Given the description of an element on the screen output the (x, y) to click on. 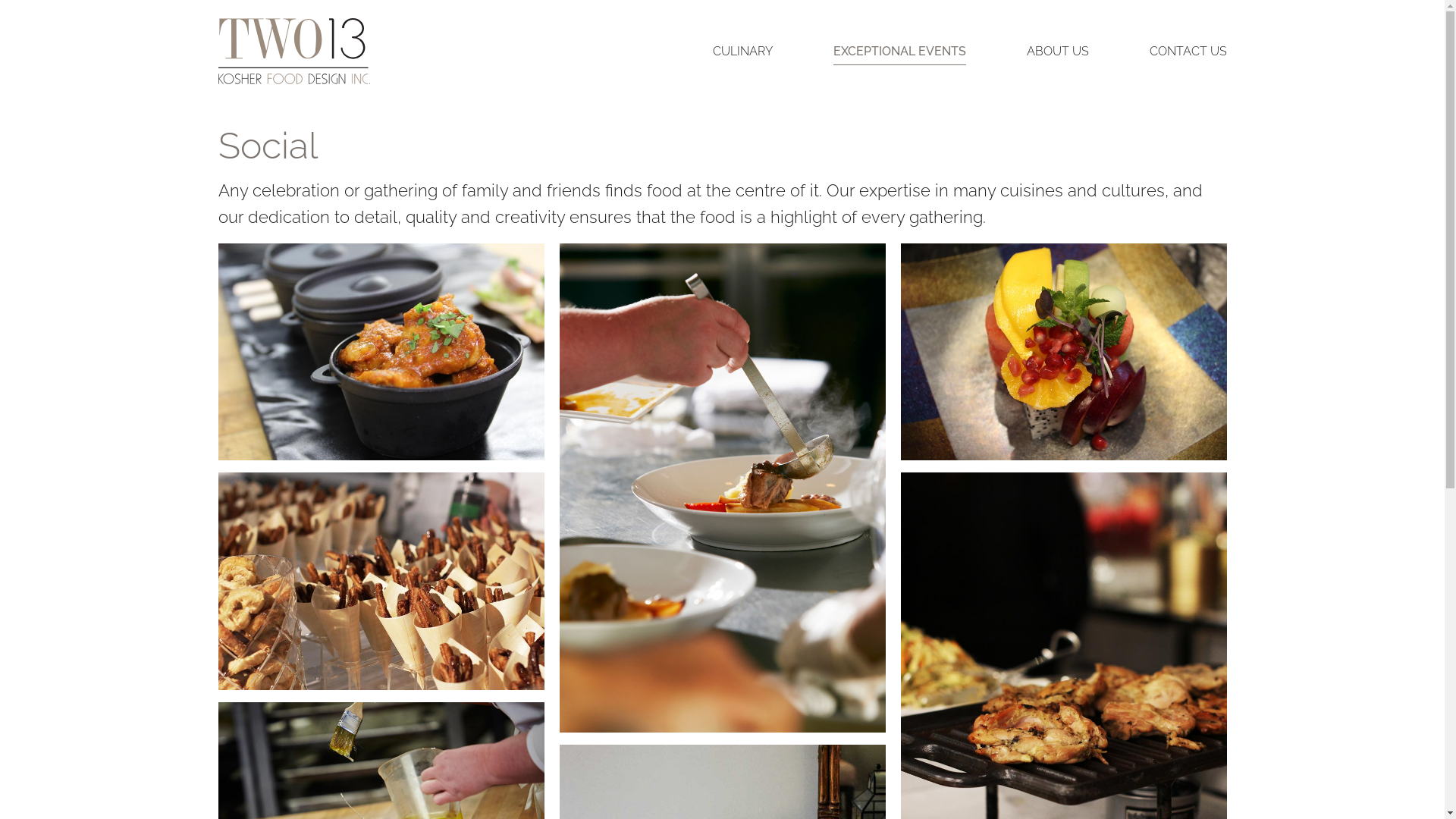
CULINARY Element type: text (742, 51)
EXCEPTIONAL EVENTS Element type: text (898, 51)
ABOUT US Element type: text (1057, 51)
Two13 Kosher Food Design Inc. Element type: hover (294, 51)
CONTACT US Element type: text (1187, 51)
